Given the description of an element on the screen output the (x, y) to click on. 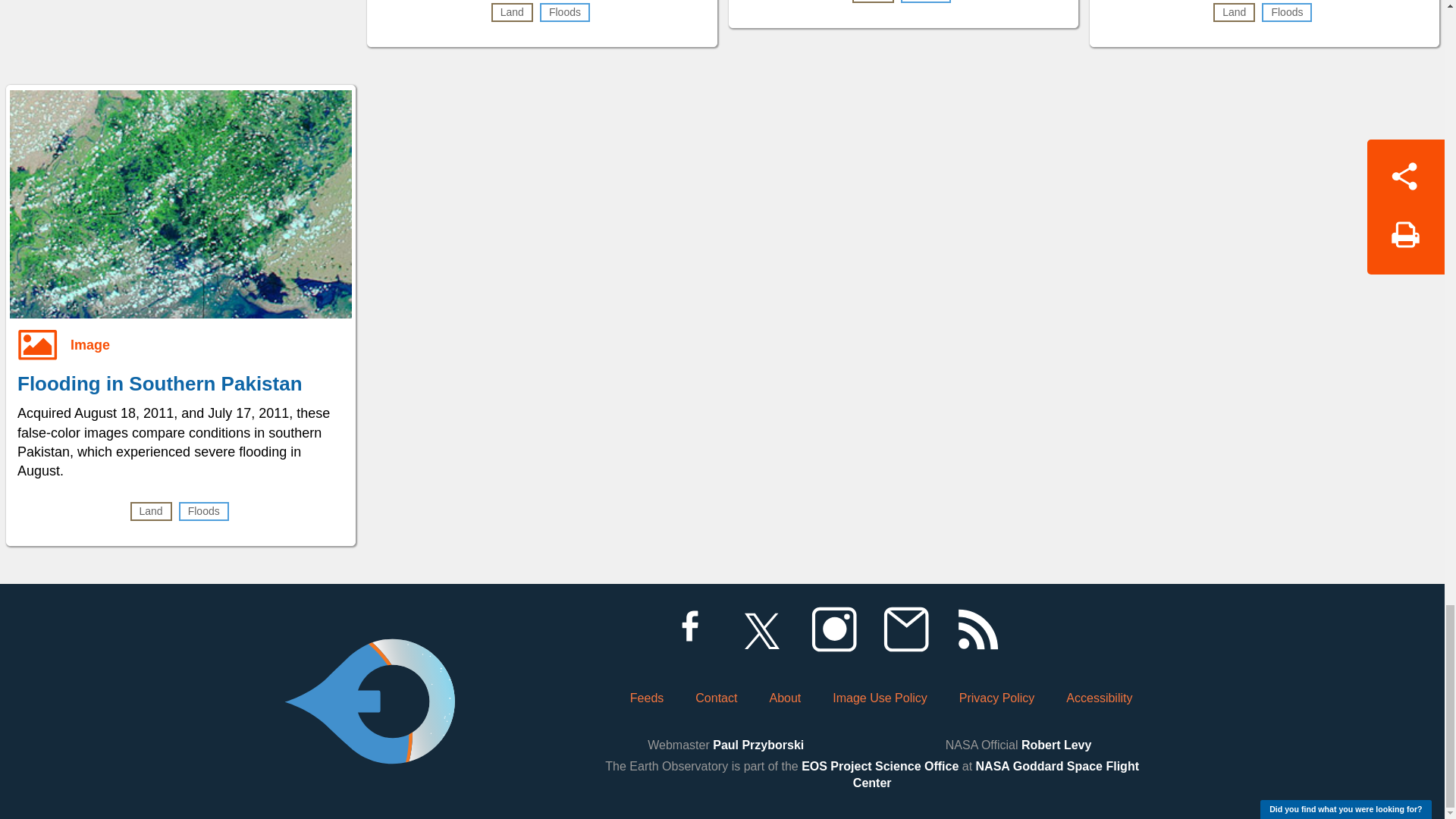
Facebook (689, 629)
Earth Observatory (369, 659)
RSS (977, 629)
Twitter (761, 629)
Subscribe (905, 629)
Instagram (833, 629)
